Given the description of an element on the screen output the (x, y) to click on. 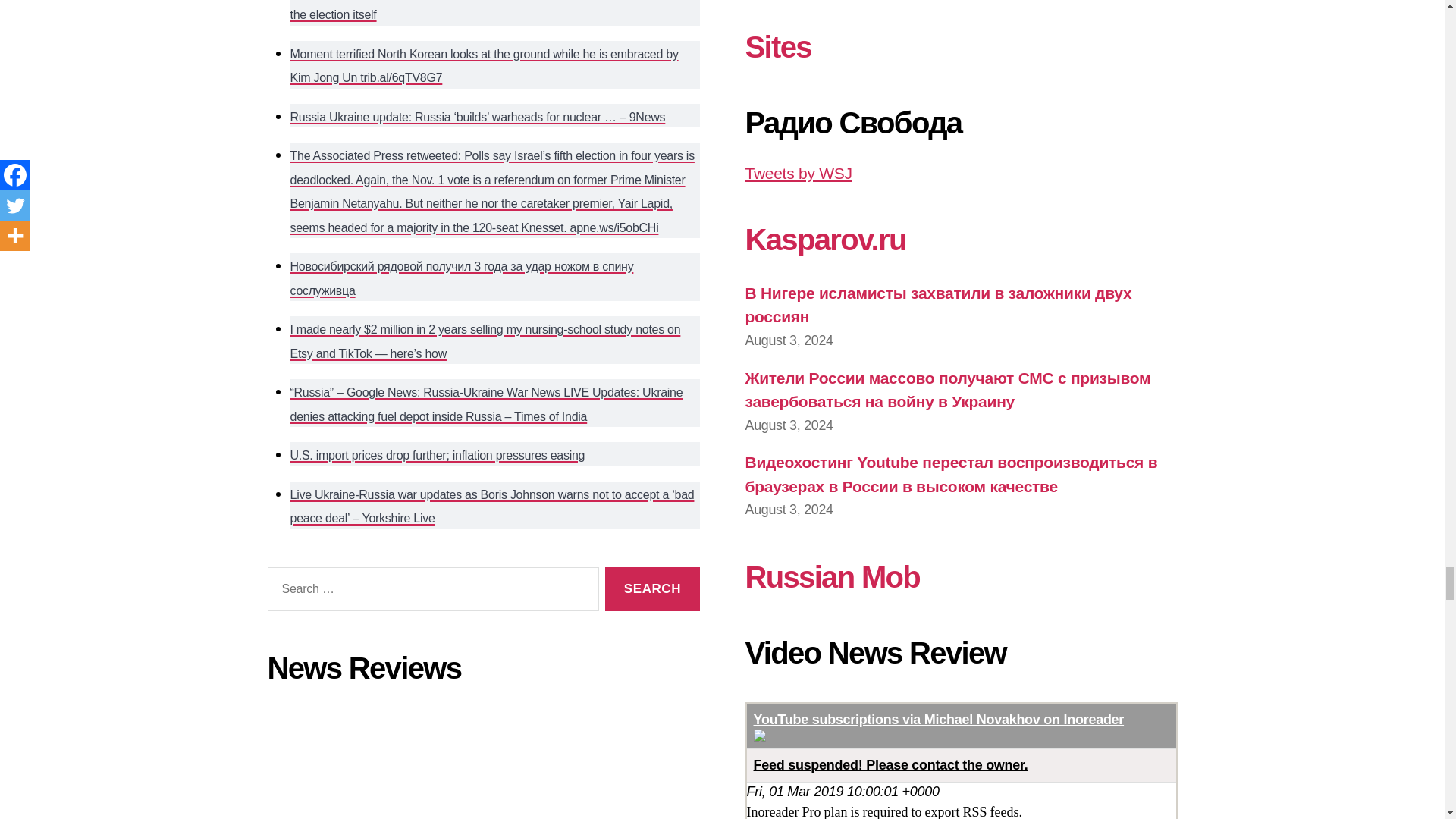
Search (651, 589)
Search (651, 589)
